Given the description of an element on the screen output the (x, y) to click on. 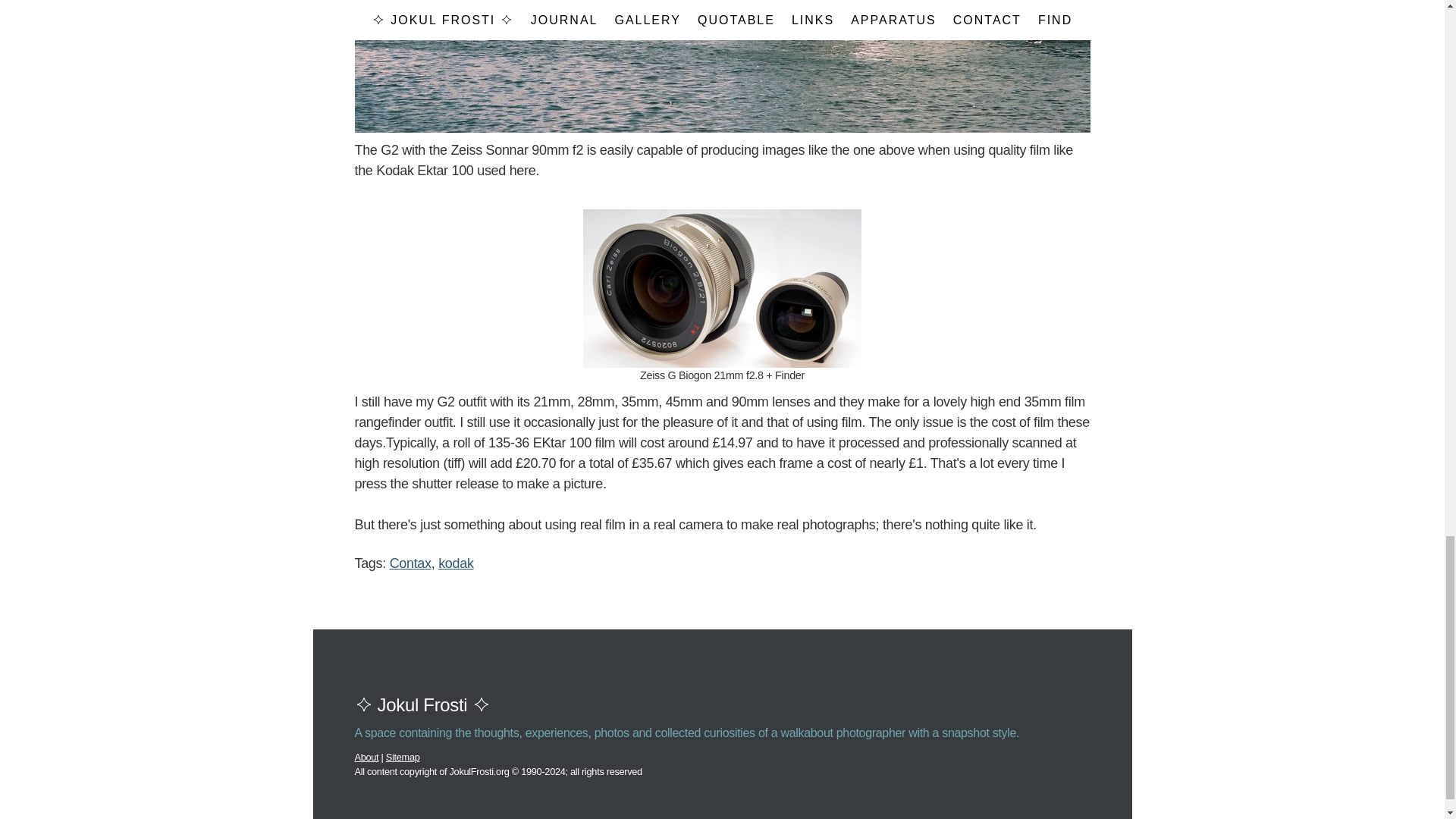
kodak (455, 563)
Sitemap (402, 756)
About (366, 756)
Contax (410, 563)
